Given the description of an element on the screen output the (x, y) to click on. 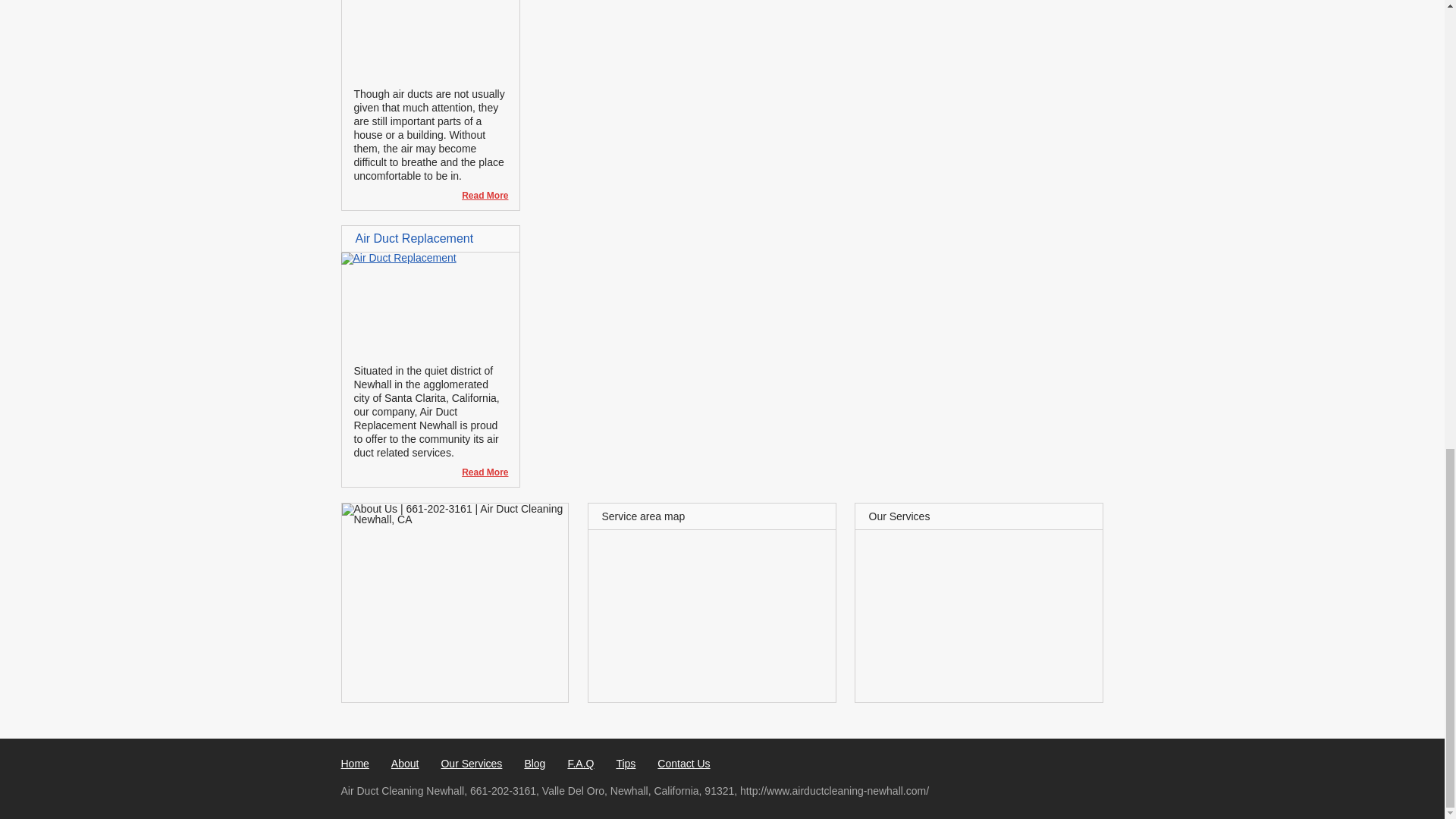
Read More (477, 472)
Contact Us (684, 763)
F.A.Q (580, 763)
Home (354, 763)
Air Duct Replacement (414, 237)
About (405, 763)
Read More (477, 195)
Blog (534, 763)
Tips (624, 763)
Air Duct Replacement (398, 257)
